Given the description of an element on the screen output the (x, y) to click on. 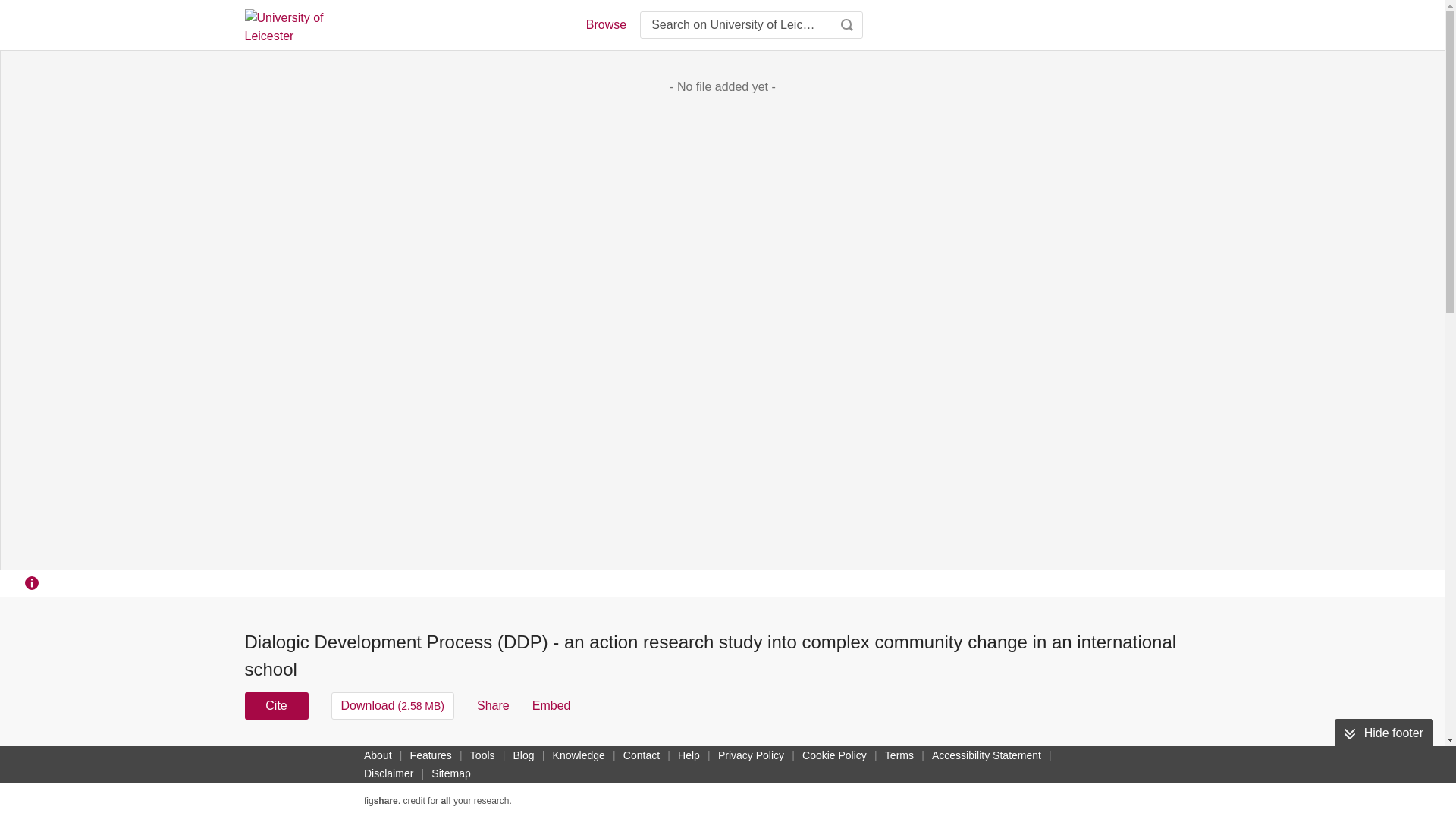
About (377, 755)
Blog (523, 755)
Sitemap (450, 773)
Cookie Policy (833, 755)
Help (688, 755)
Browse (605, 24)
Contact (640, 755)
USAGE METRICS (976, 759)
Accessibility Statement (986, 755)
Terms (899, 755)
